Given the description of an element on the screen output the (x, y) to click on. 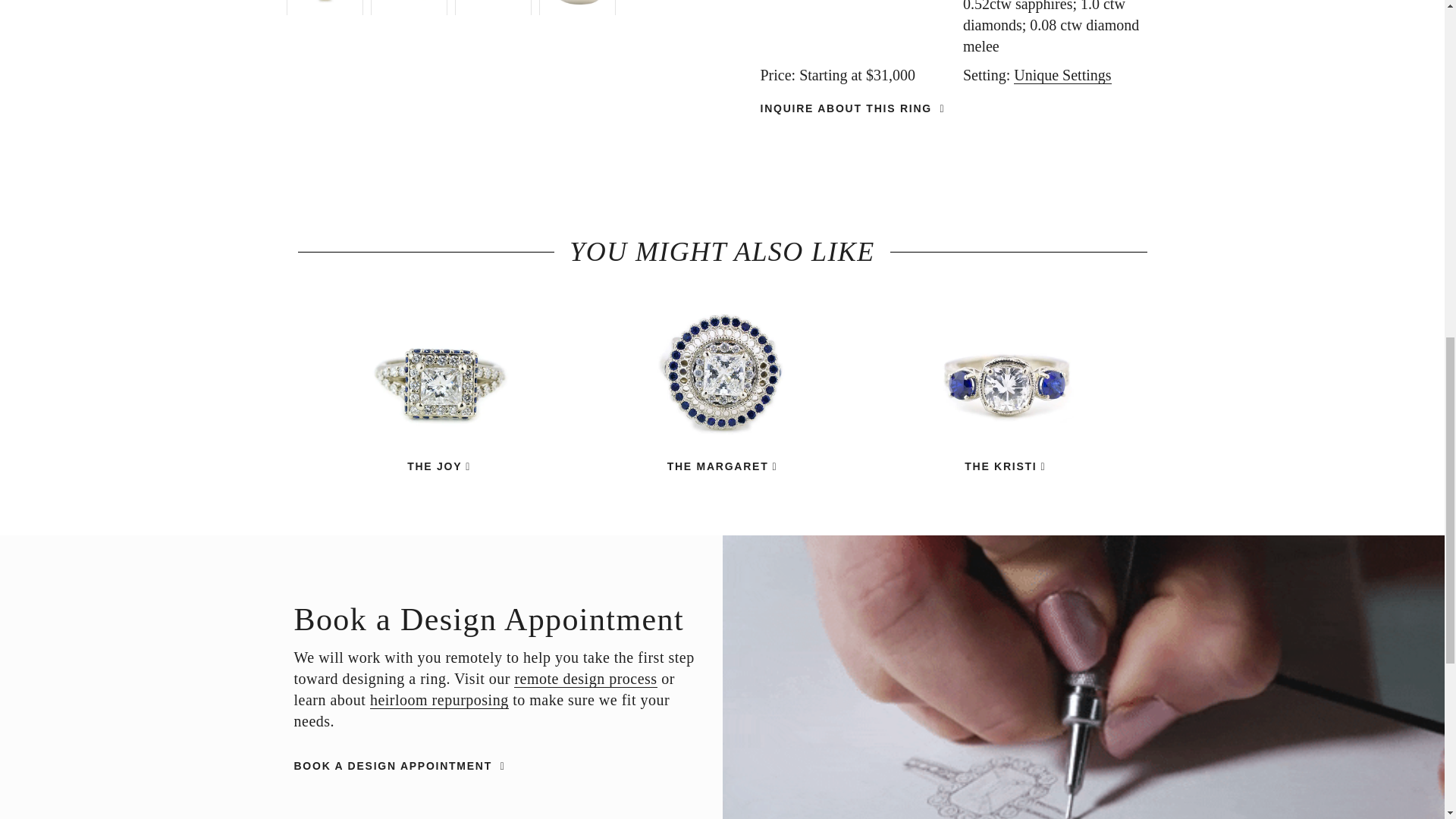
Princess Cut Diamond Halo Engagement Ring With Sapphires (438, 382)
Three Stone Sapphire and Diamond Ring (1004, 466)
Three Stone Sapphire and Diamond Ring (1004, 382)
Sapphire Filigree Mandala Ring (721, 466)
Princess Cut Diamond Halo Engagement Ring With Sapphires (438, 466)
Sapphire Filigree Mandala Ring (722, 382)
